Given the description of an element on the screen output the (x, y) to click on. 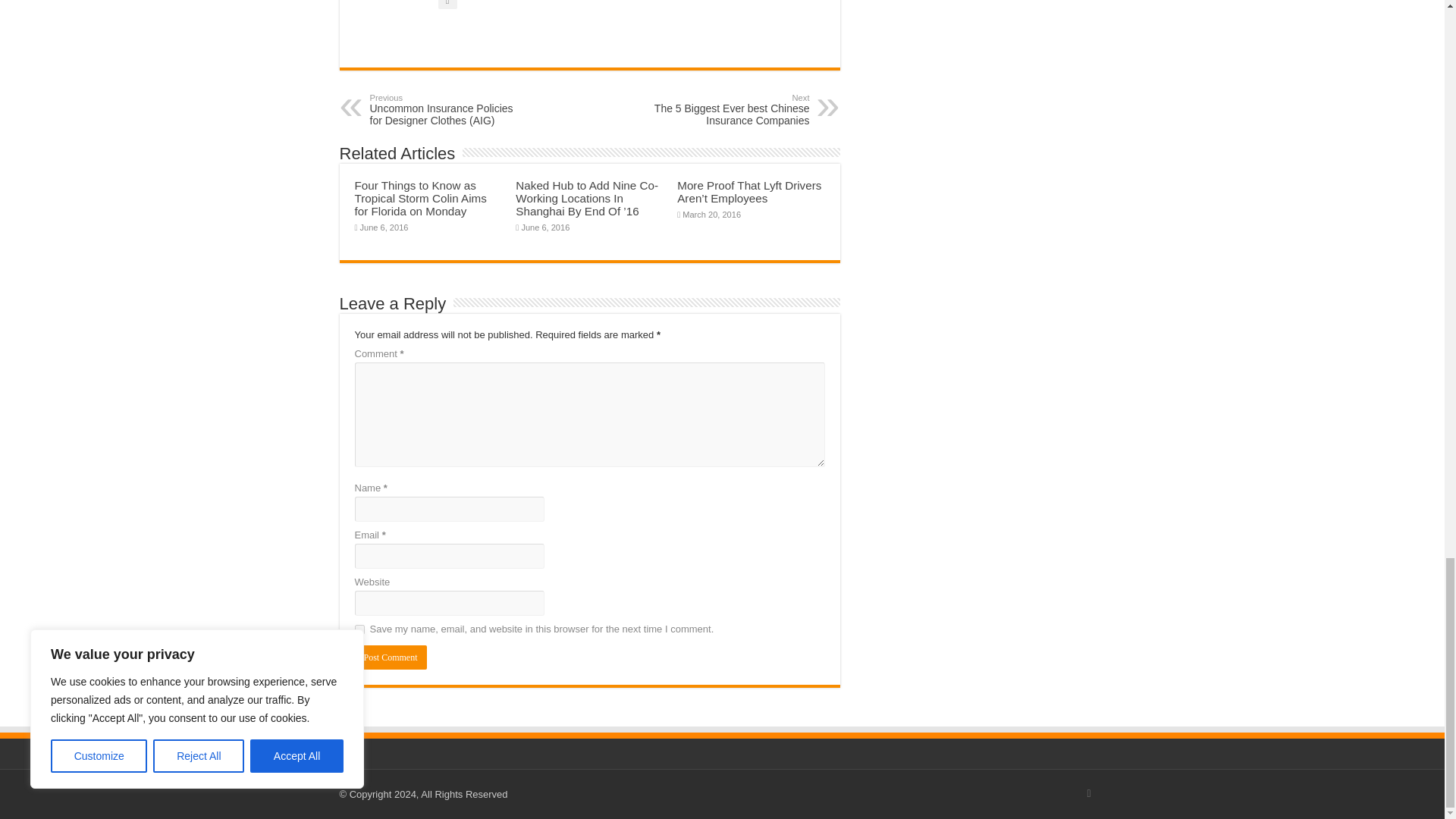
Post Comment (390, 657)
yes (360, 629)
